Given the description of an element on the screen output the (x, y) to click on. 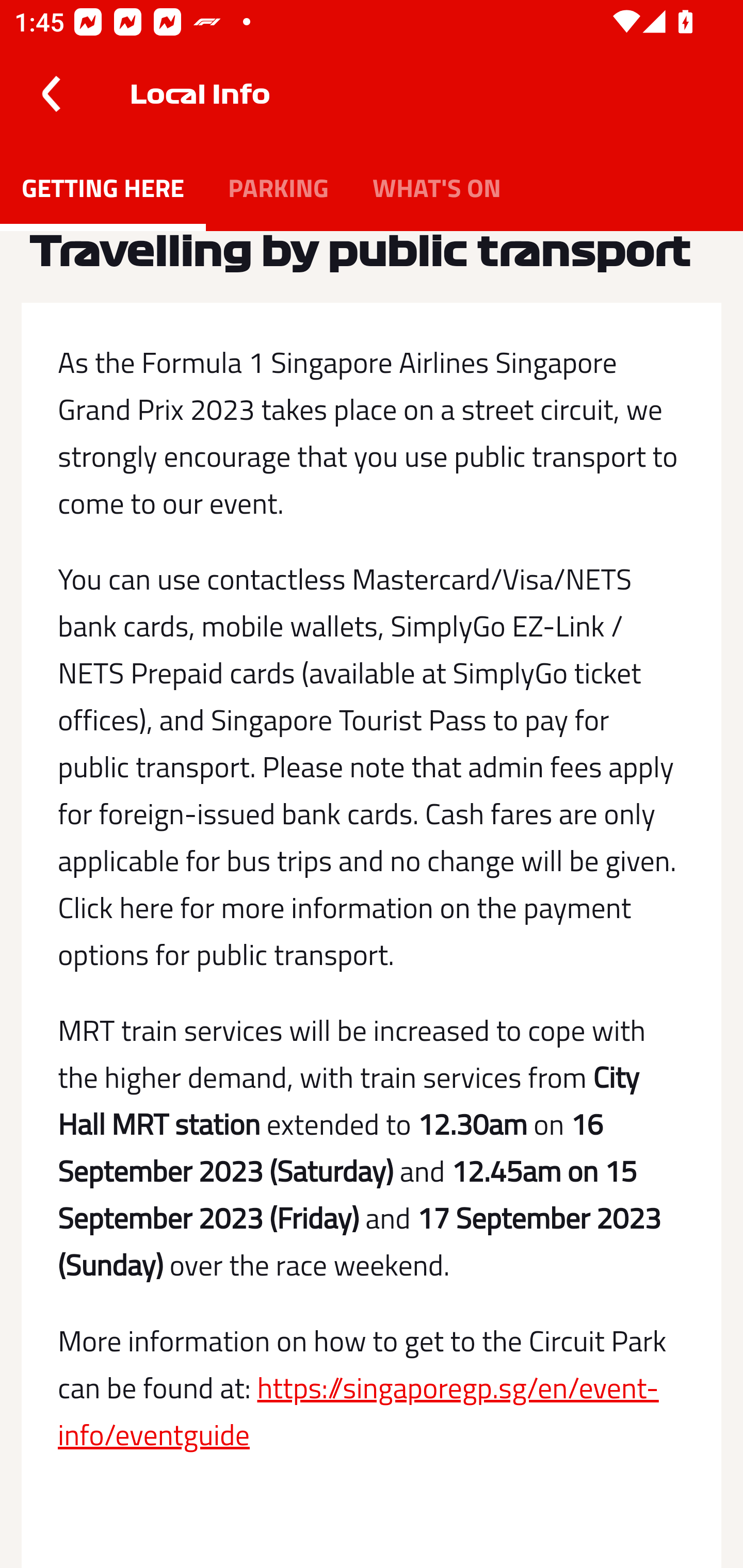
Navigate up (50, 93)
Parking PARKING (277, 187)
What's On WHAT'S ON (436, 187)
https://singaporegp.sg/en/event-info/eventguide (358, 1411)
